Given the description of an element on the screen output the (x, y) to click on. 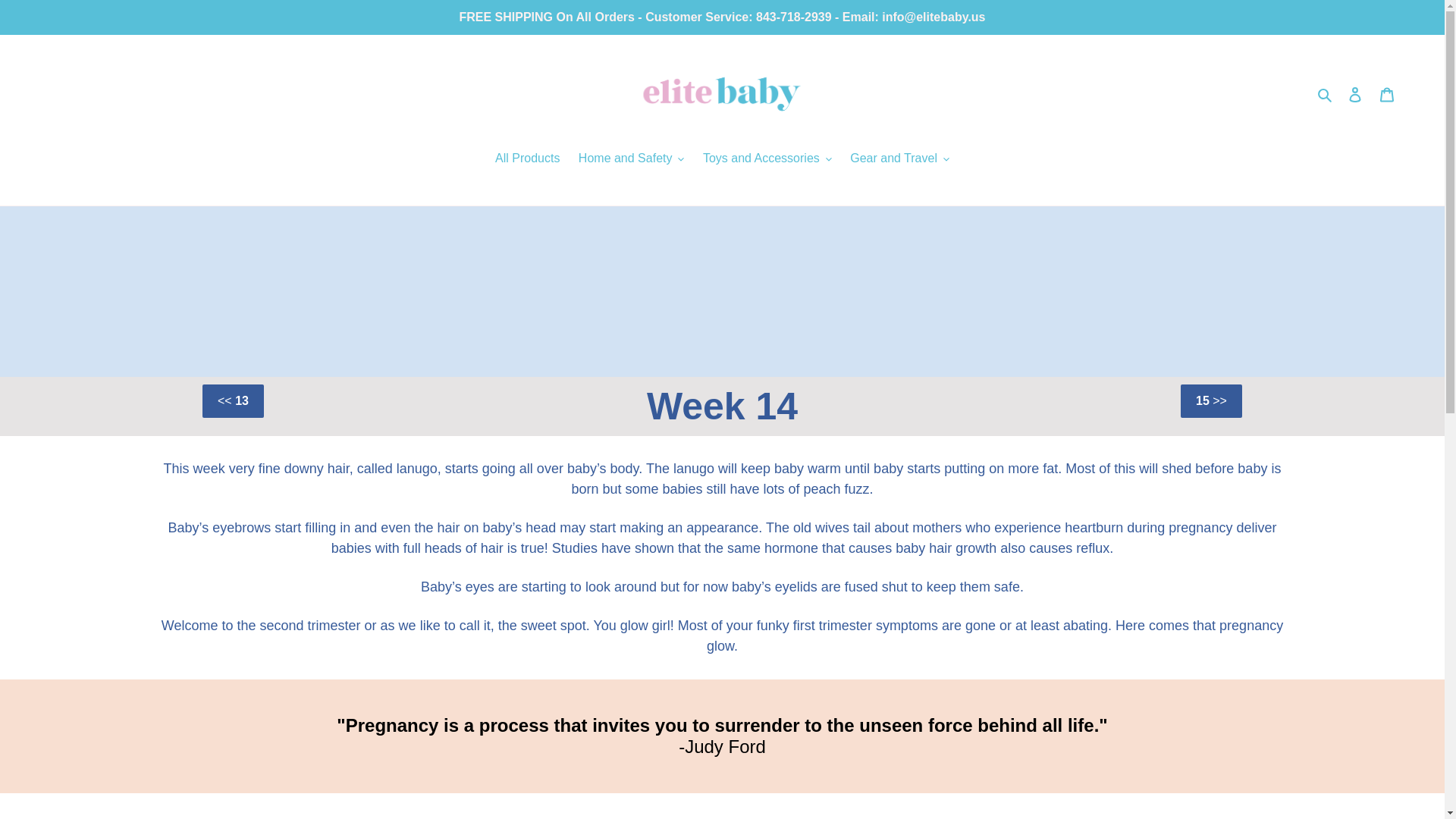
Search (1326, 94)
Cart (1387, 93)
Log in (1355, 93)
